Given the description of an element on the screen output the (x, y) to click on. 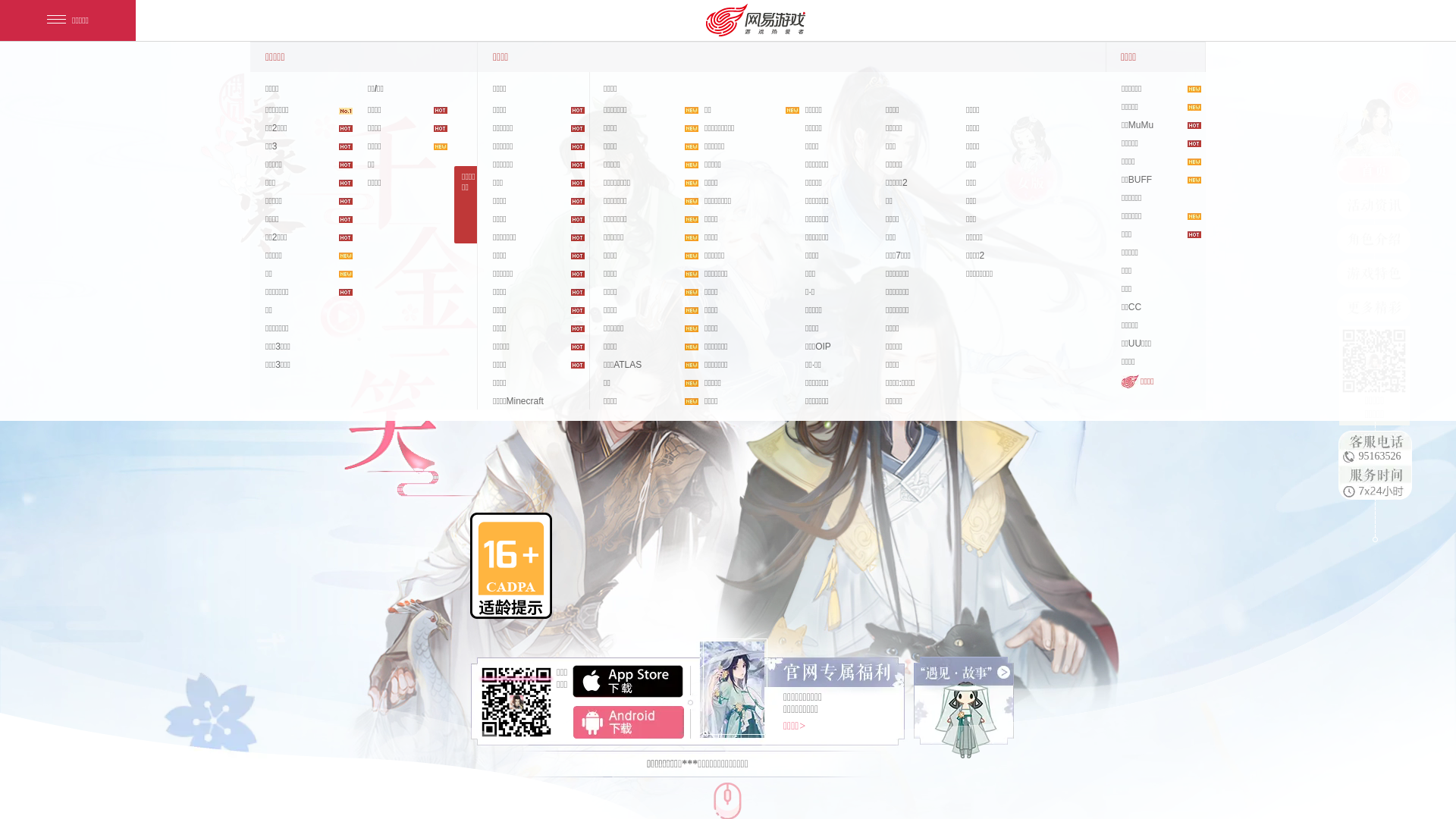
16+ Element type: hover (511, 565)
